Given the description of an element on the screen output the (x, y) to click on. 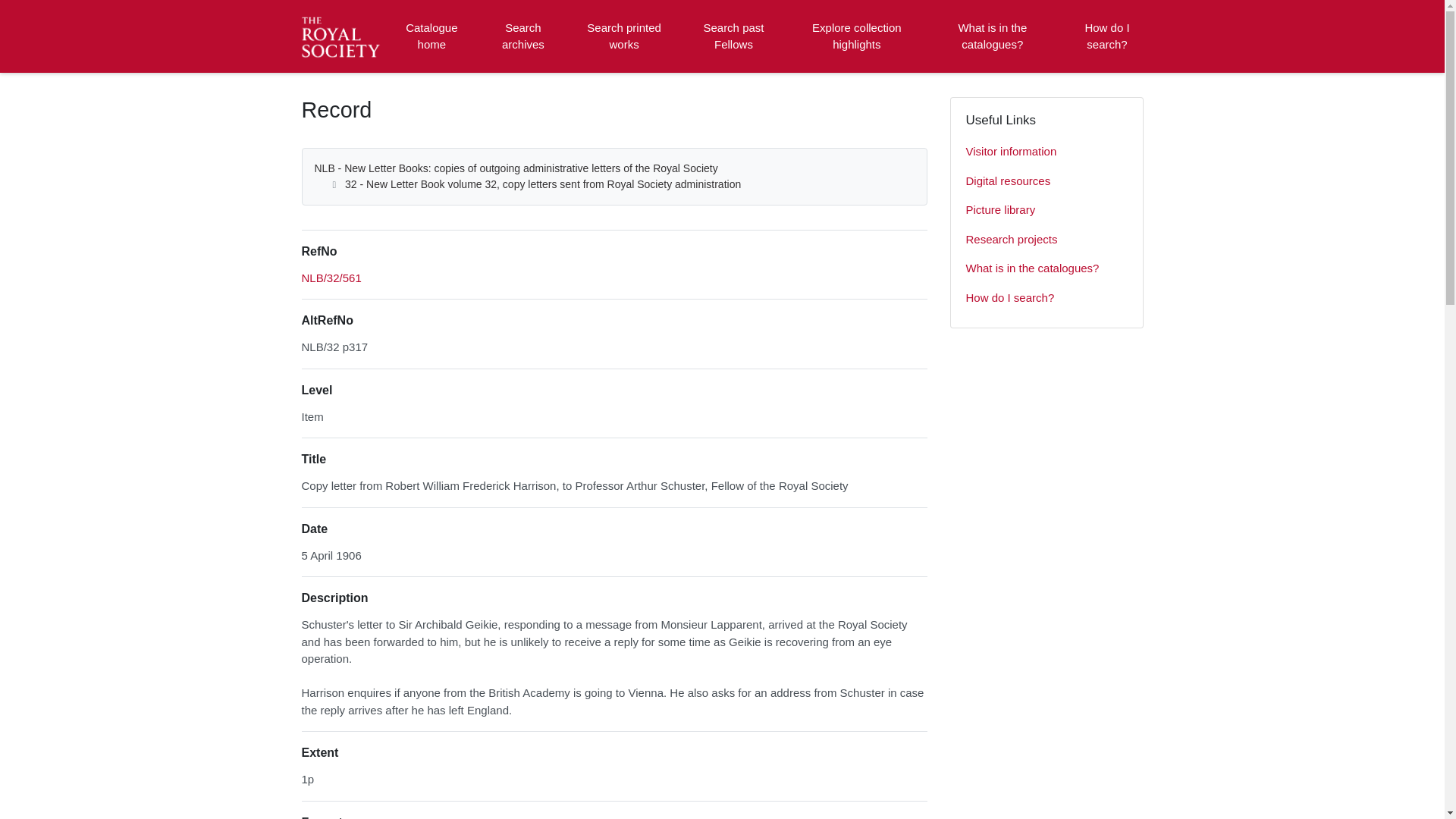
Explore collection highlights (856, 36)
Search printed works (624, 36)
Search past Fellows (732, 36)
How do I search? (1046, 297)
Digital resources (1046, 181)
Search archives (522, 36)
Research projects (1046, 239)
Homepage (343, 36)
Picture library (1046, 210)
What is in the catalogues? (1046, 268)
How do I search? (1106, 36)
Visitor information (1046, 152)
Catalogue home (431, 36)
